Given the description of an element on the screen output the (x, y) to click on. 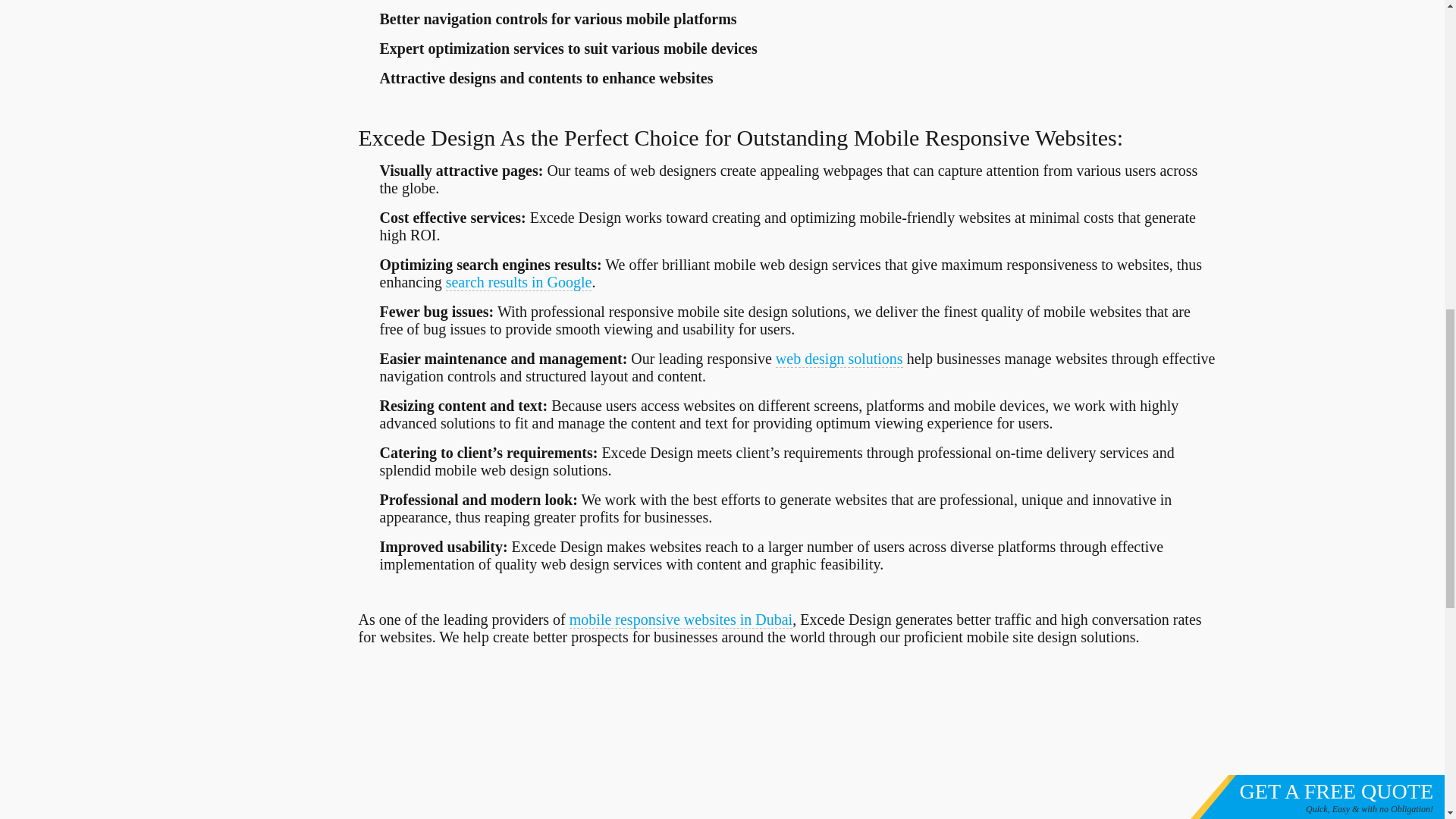
web design solutions (839, 358)
search results in Google (518, 282)
mobile responsive websites in Dubai (680, 619)
